Given the description of an element on the screen output the (x, y) to click on. 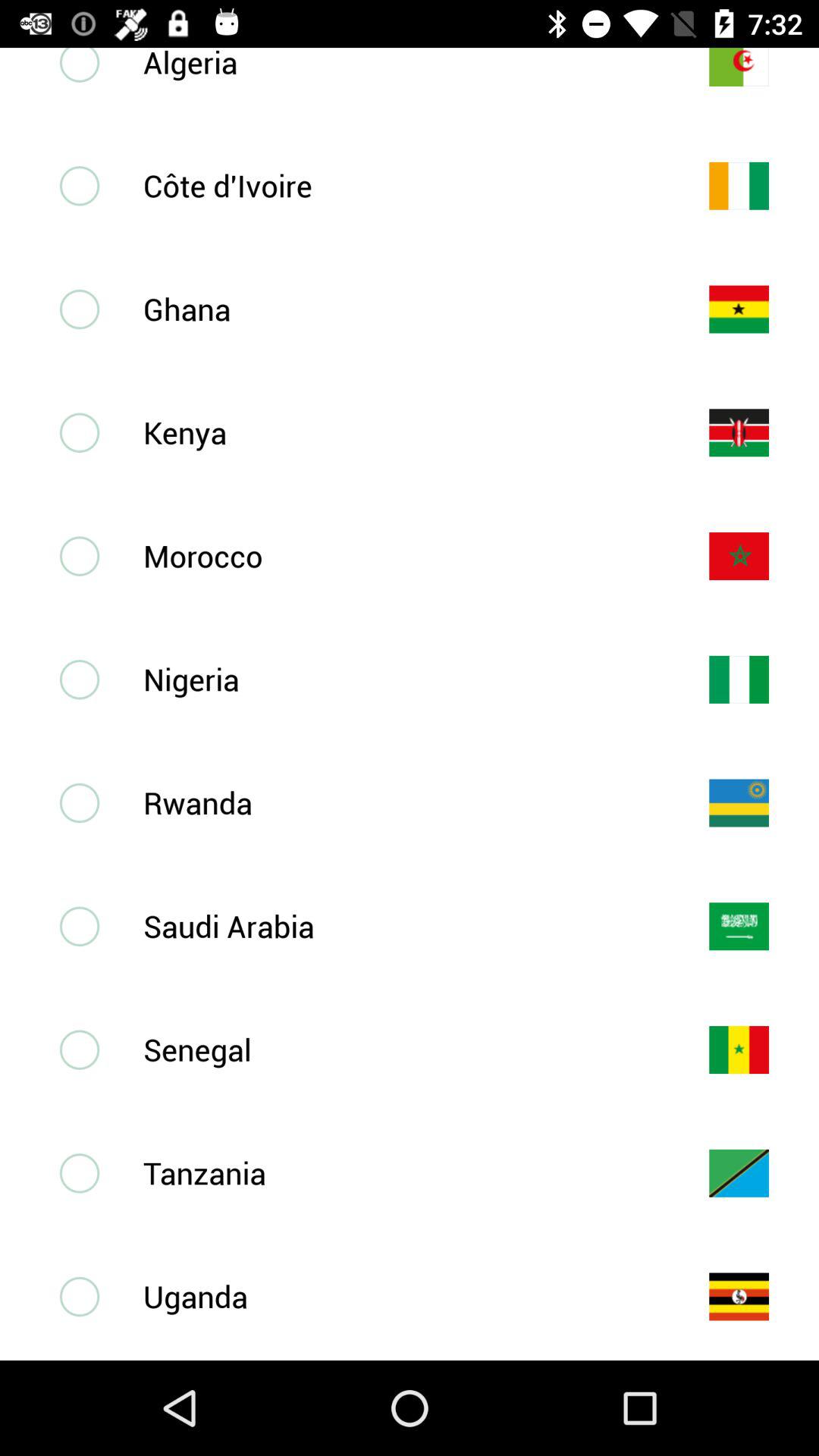
flip to saudi arabia item (401, 926)
